Given the description of an element on the screen output the (x, y) to click on. 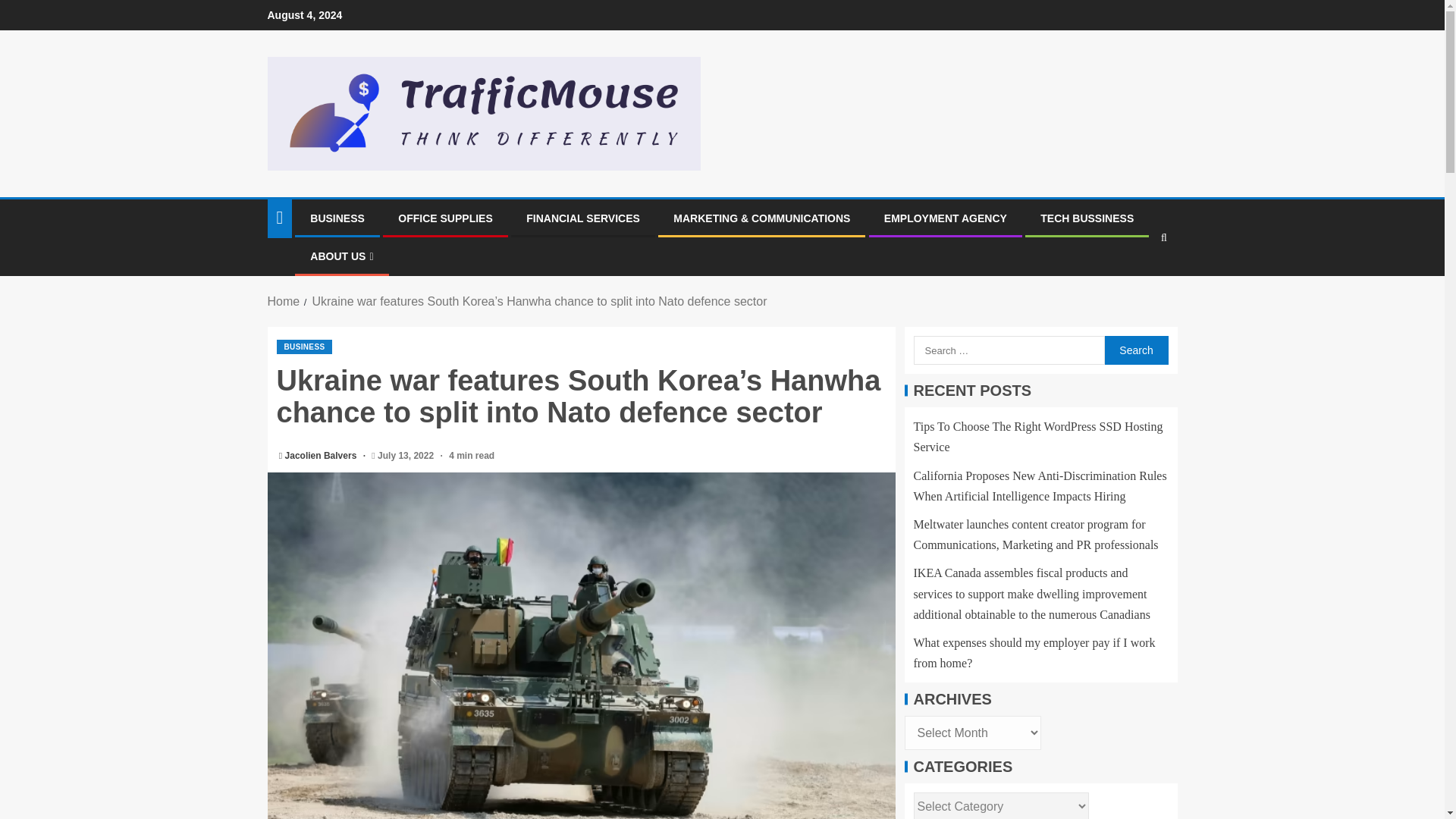
BUSINESS (303, 346)
Search (1135, 349)
BUSINESS (337, 218)
OFFICE SUPPLIES (444, 218)
Search (1133, 284)
ABOUT US (341, 256)
Jacolien Balvers (322, 455)
Search (1135, 349)
Home (282, 300)
EMPLOYMENT AGENCY (945, 218)
